Given the description of an element on the screen output the (x, y) to click on. 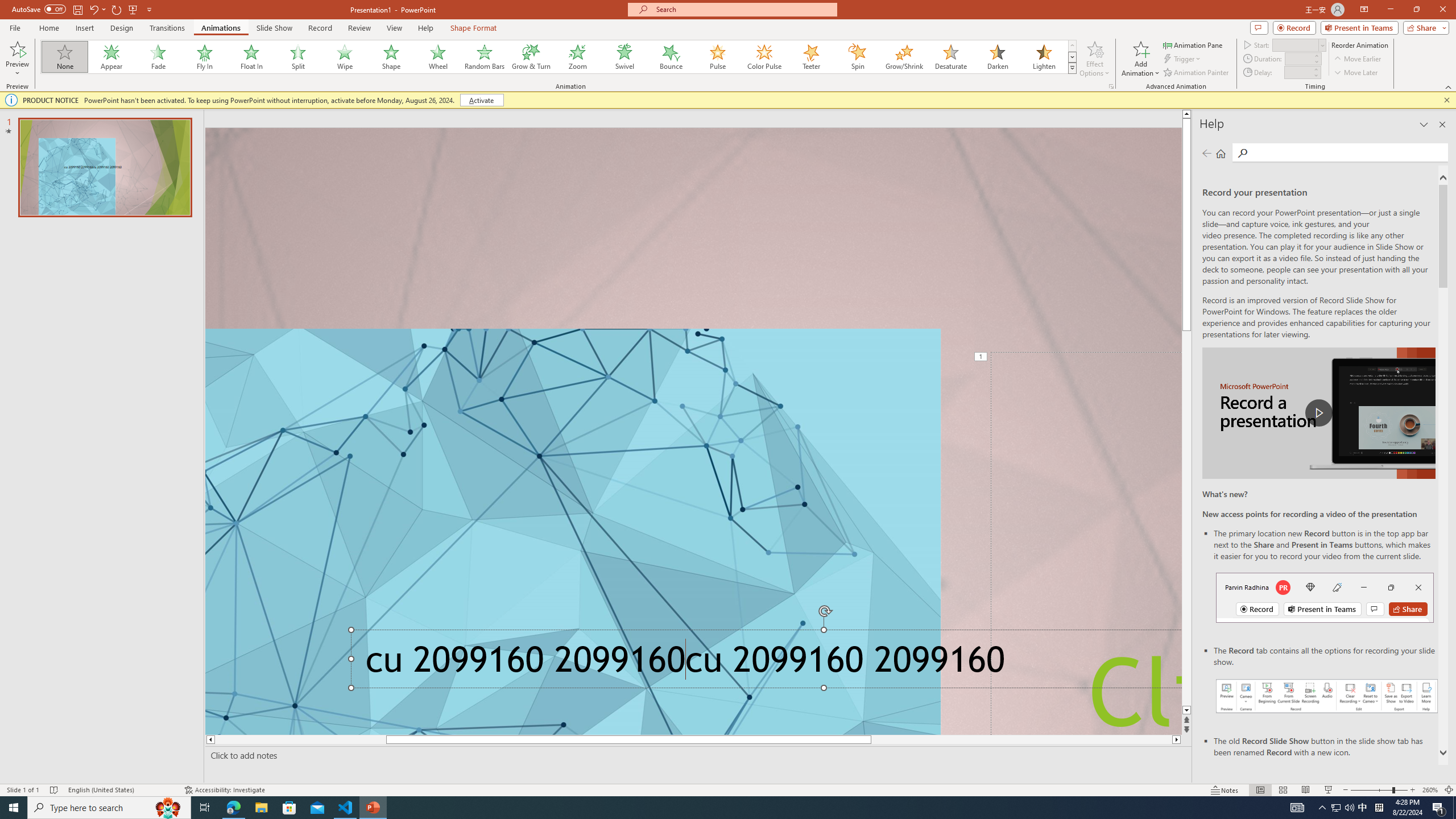
Animation Styles (1071, 67)
Appear (111, 56)
More (1315, 69)
Shape Format (473, 28)
Teeter (810, 56)
